Given the description of an element on the screen output the (x, y) to click on. 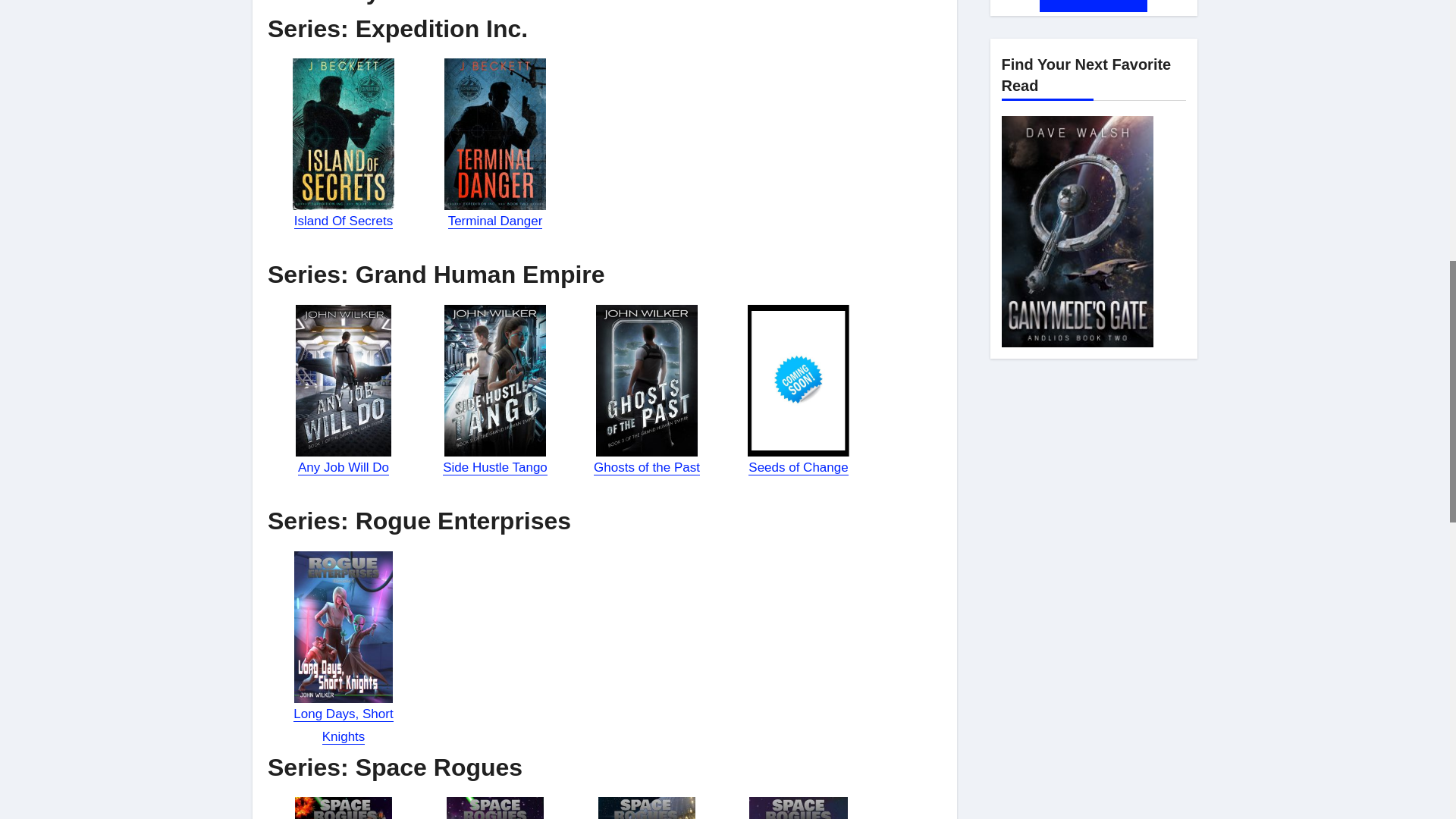
Terminal Danger (495, 220)
Island Of Secrets (343, 220)
Seeds of Change (797, 467)
Side Hustle Tango (494, 467)
Any Job Will Do (343, 467)
Ghosts of the Past (647, 467)
Long Days, Short Knights (343, 724)
